Given the description of an element on the screen output the (x, y) to click on. 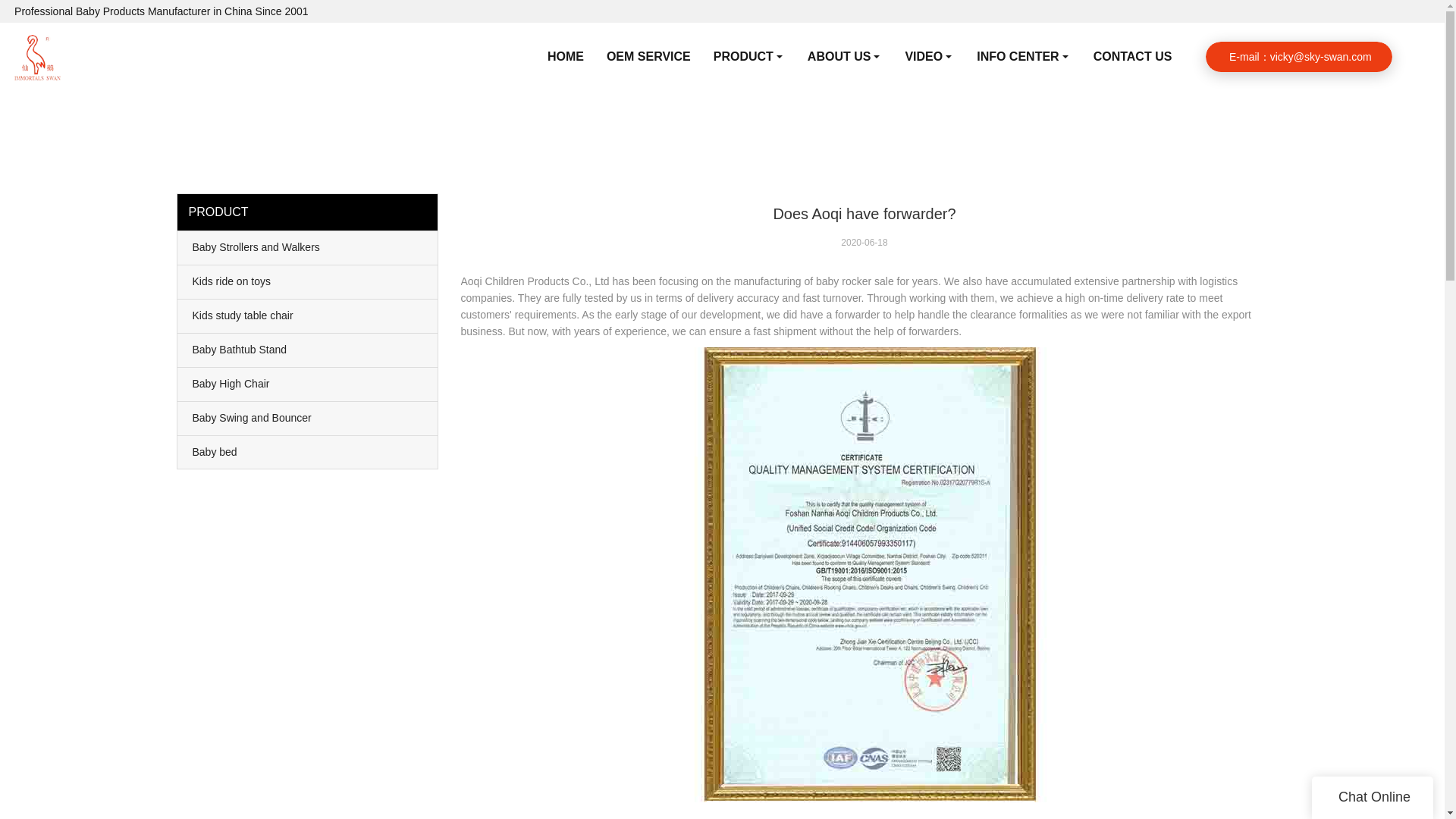
Kids study table chair (307, 315)
Baby Swing and Bouncer (307, 418)
Kids ride on toys (307, 281)
Baby bed (307, 451)
Baby Bathtub Stand (307, 349)
CONTACT US (1132, 56)
Baby High Chair (307, 384)
Baby Strollers and Walkers (307, 247)
OEM SERVICE (648, 56)
INFO CENTER (1023, 56)
ABOUT US (844, 56)
HOME (565, 56)
PRODUCT (748, 56)
VIDEO (929, 56)
